Given the description of an element on the screen output the (x, y) to click on. 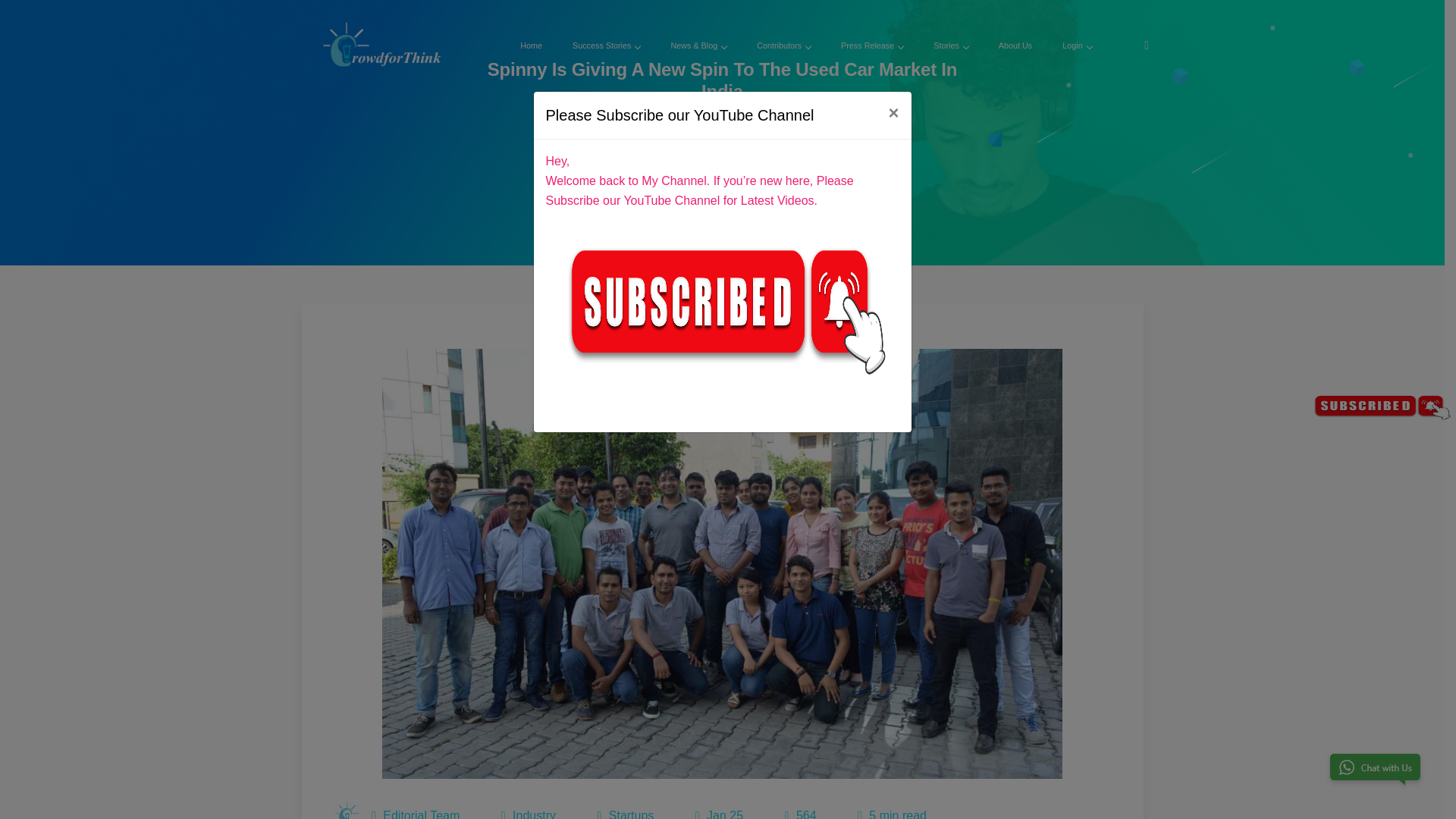
Editorial Team (421, 814)
Editorial Team (346, 810)
Industry (534, 814)
Blog List (743, 115)
Play (721, 176)
Home (694, 115)
Success Stories (605, 45)
